Given the description of an element on the screen output the (x, y) to click on. 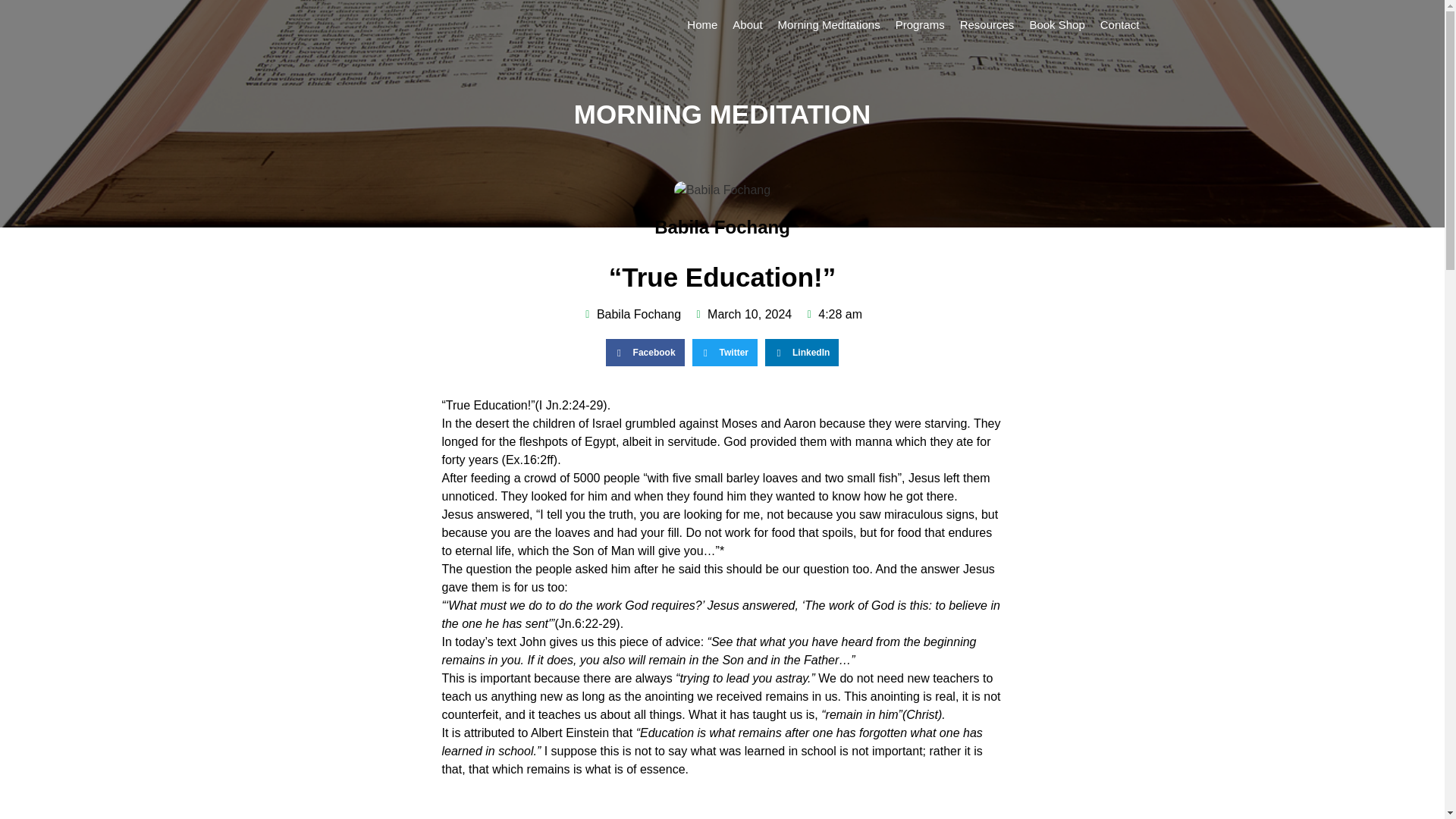
March 10, 2024 (742, 314)
Morning Meditations (829, 24)
Programs (920, 24)
Contact (1120, 24)
Advertisement (722, 804)
Home (702, 24)
Book Shop (1057, 24)
Babila Fochang (631, 314)
About (747, 24)
Resources (987, 24)
